Given the description of an element on the screen output the (x, y) to click on. 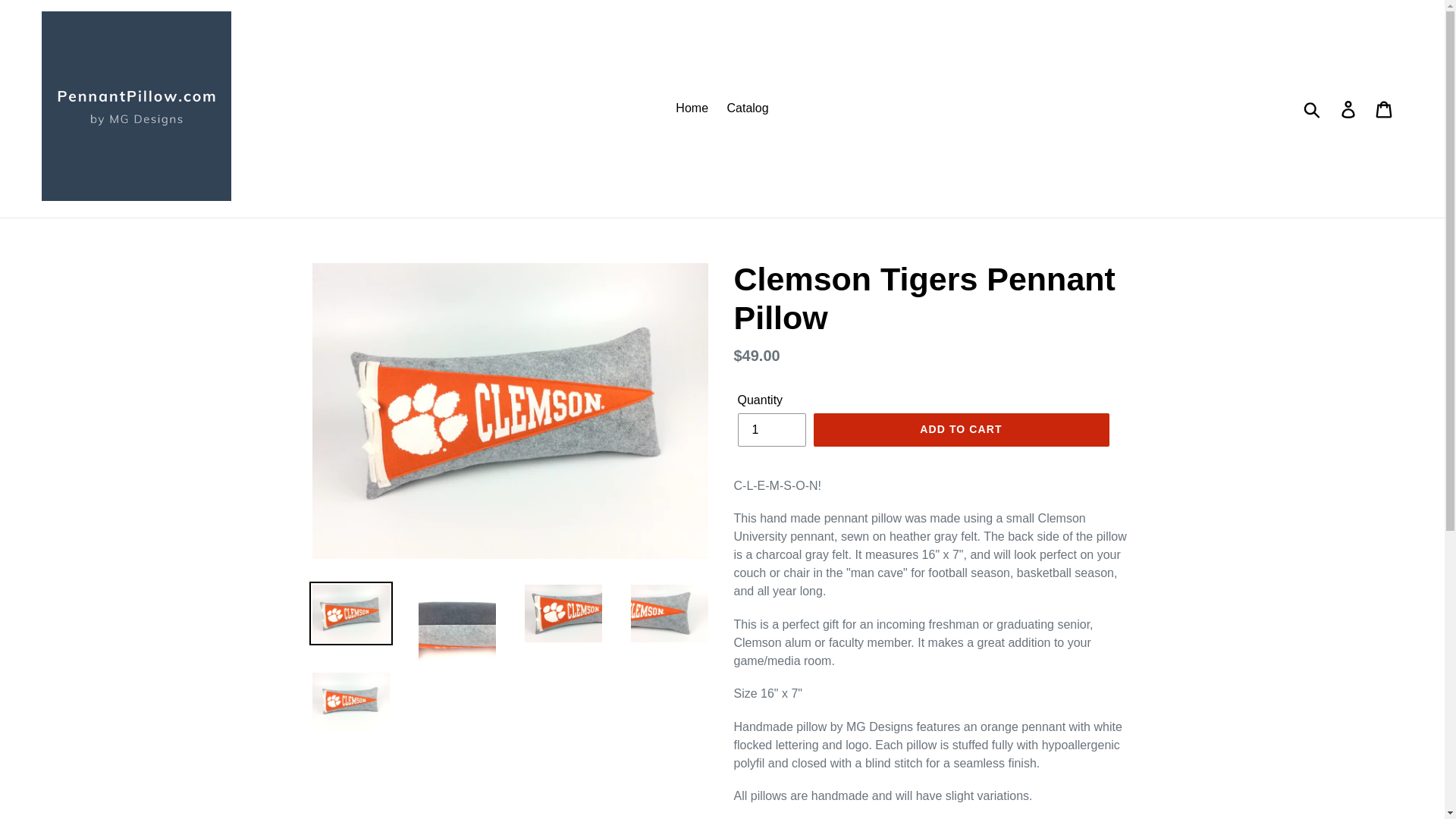
Home (692, 108)
ADD TO CART (960, 429)
Cart (1385, 108)
Submit (1313, 108)
1 (770, 429)
Log in (1349, 108)
Catalog (747, 108)
